Given the description of an element on the screen output the (x, y) to click on. 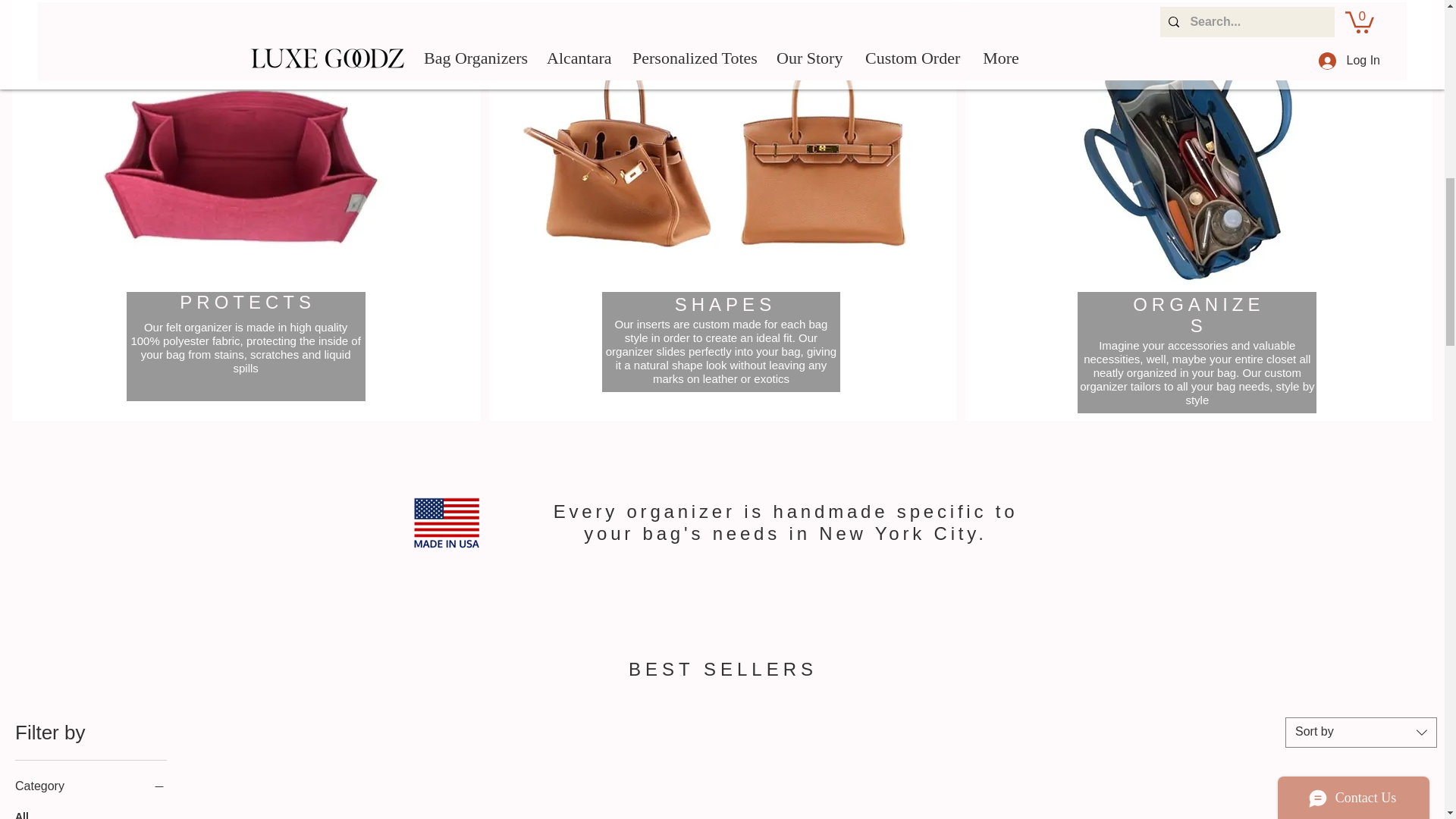
Category (90, 785)
Sort by (1361, 732)
